Given the description of an element on the screen output the (x, y) to click on. 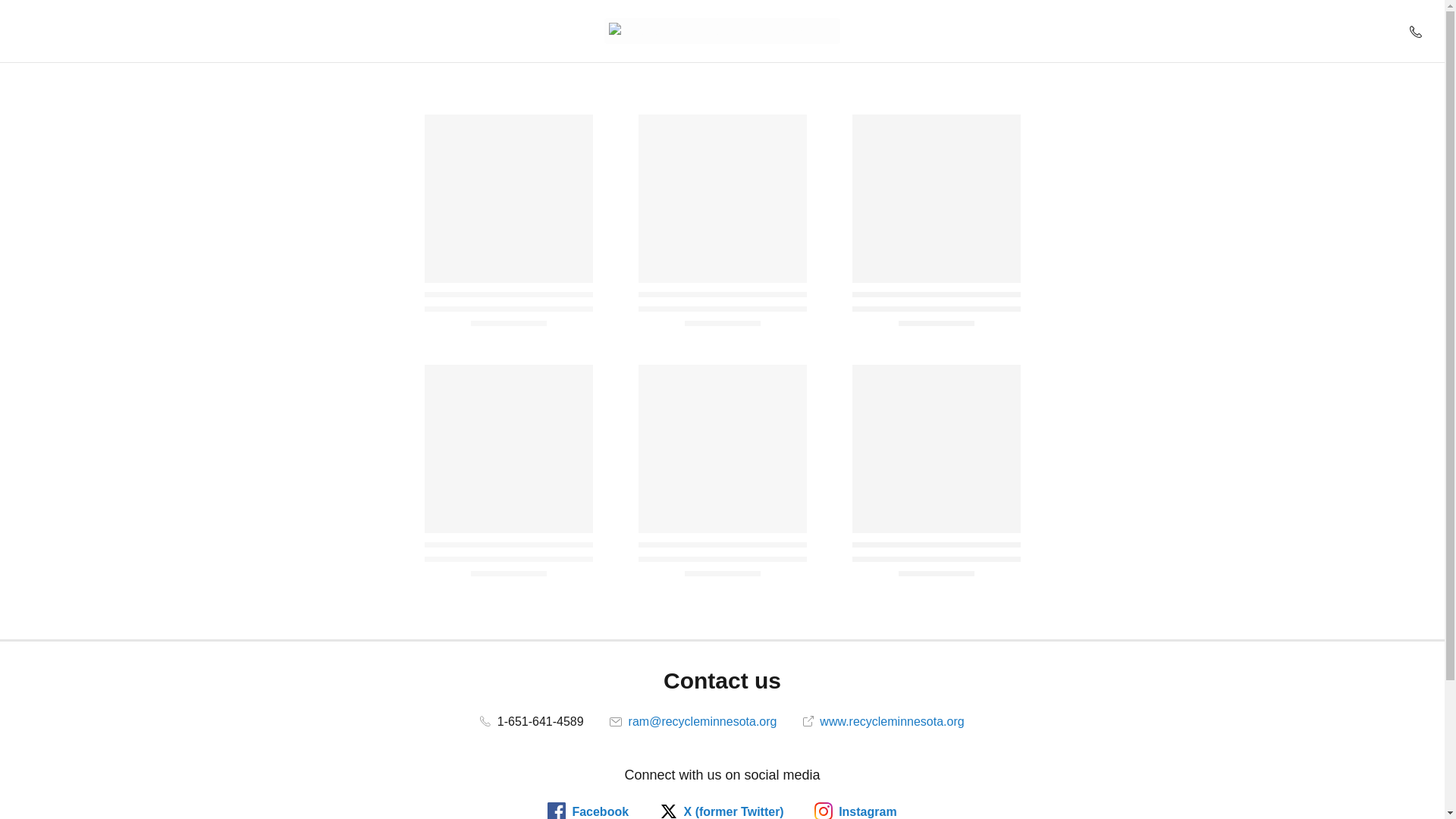
Instagram (854, 810)
1-651-641-4589 (531, 721)
www.recycleminnesota.org (883, 721)
Facebook (587, 810)
